Given the description of an element on the screen output the (x, y) to click on. 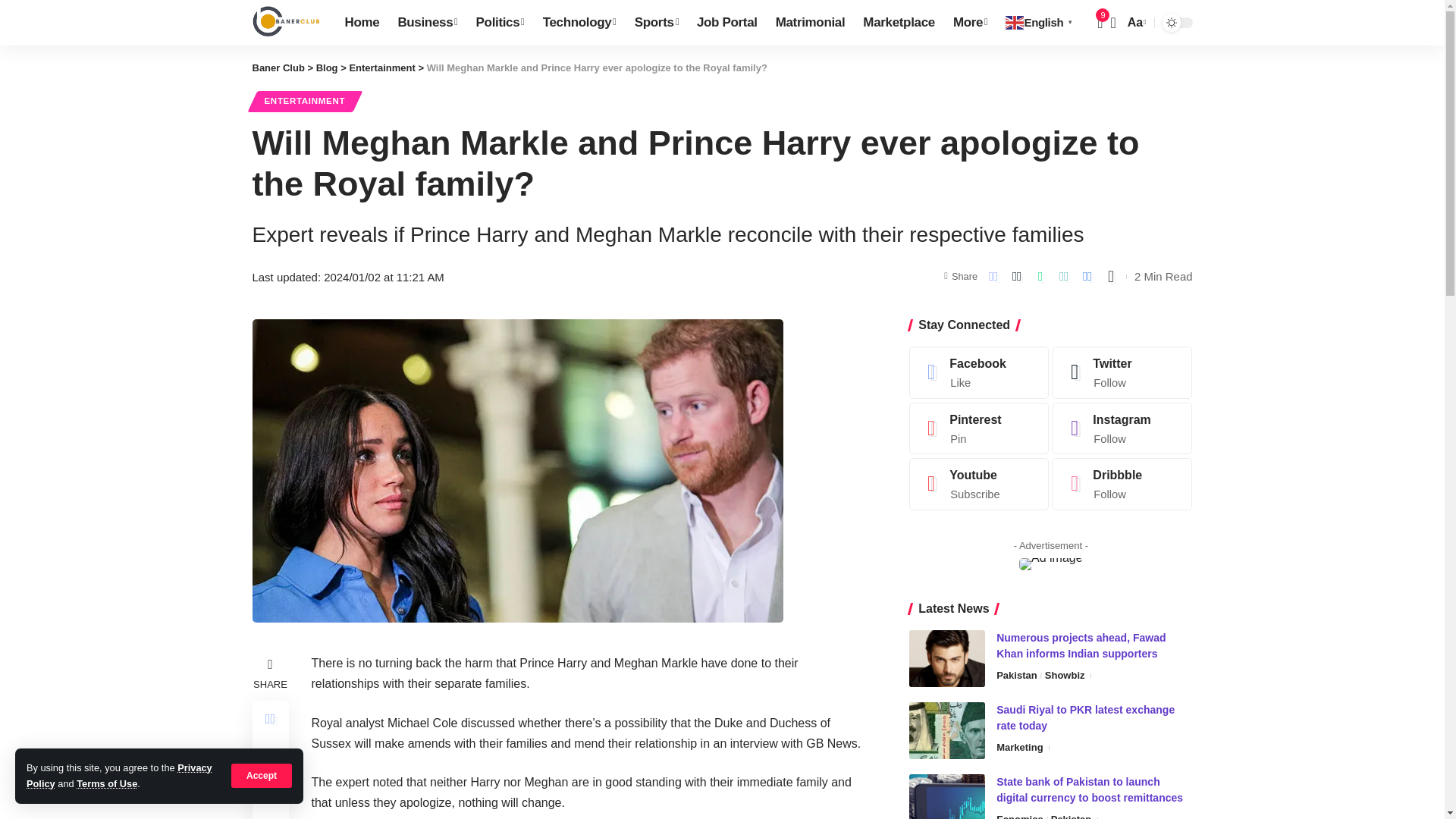
Business (426, 22)
Terms of Use (106, 783)
Privacy Policy (119, 775)
Technology (580, 22)
Baner Club (285, 22)
Accept (261, 775)
Home (361, 22)
Politics (500, 22)
